Given the description of an element on the screen output the (x, y) to click on. 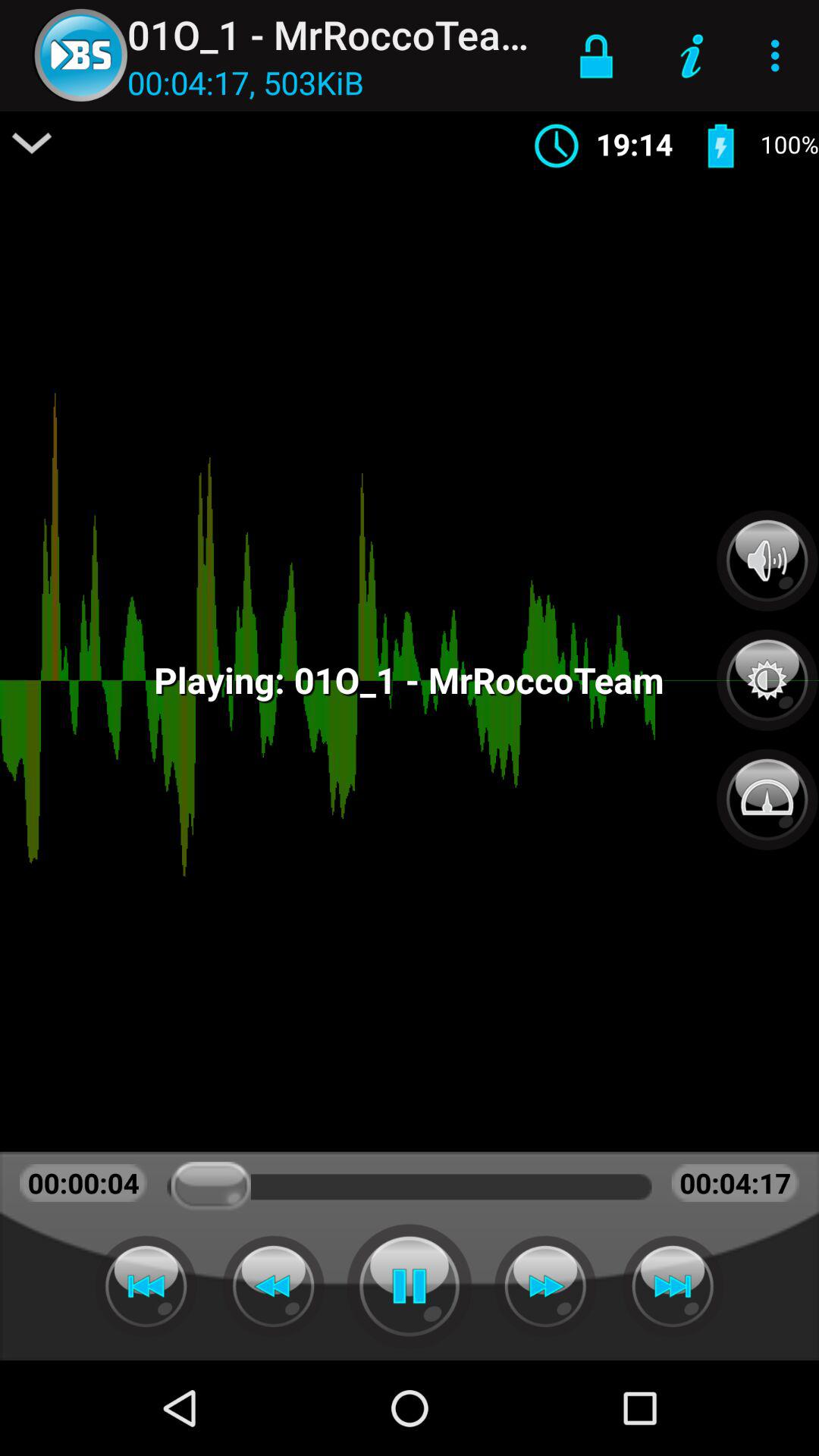
pause the song (409, 1286)
